Given the description of an element on the screen output the (x, y) to click on. 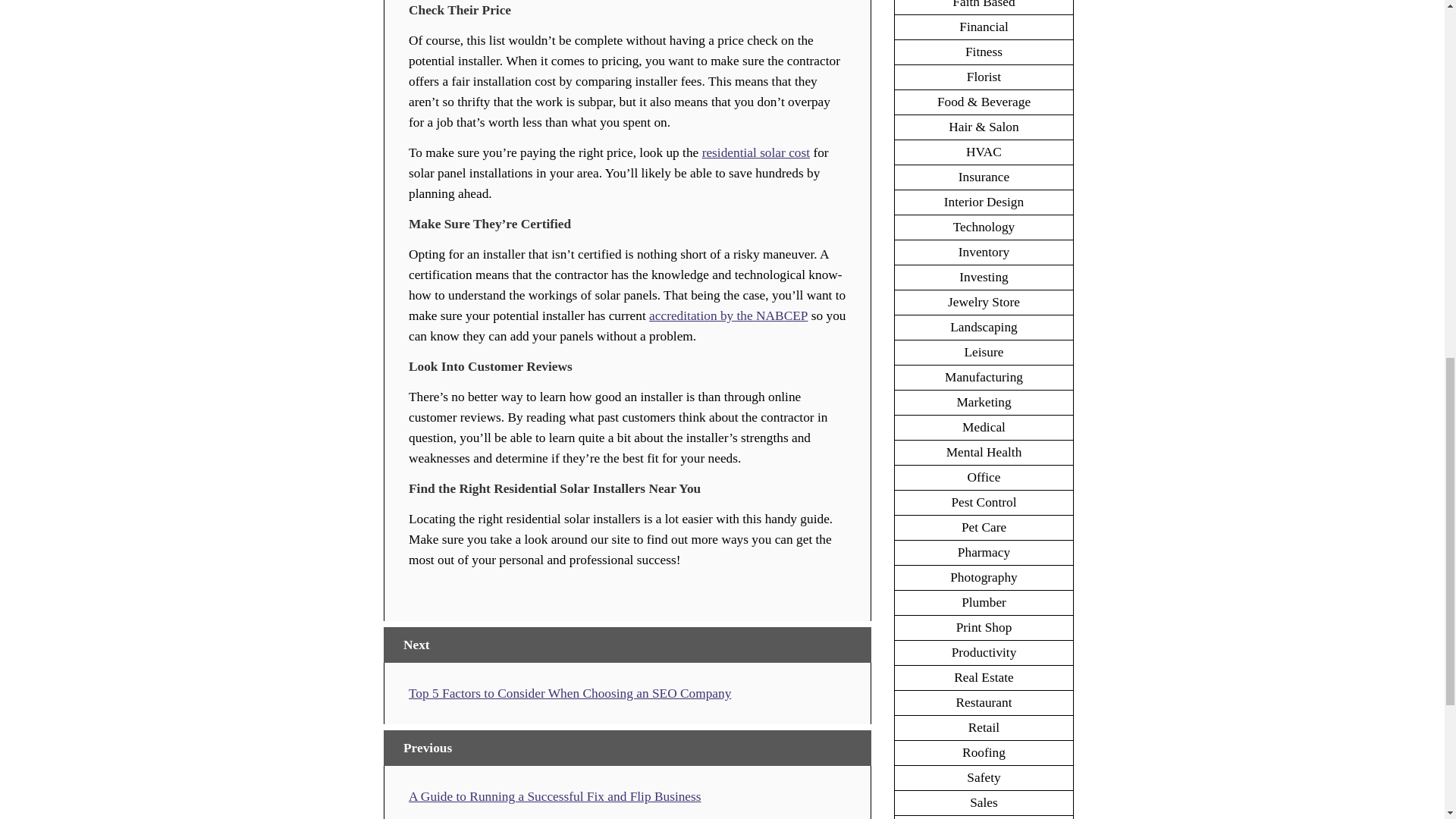
Investing (984, 277)
Technology (983, 227)
Interior Design (983, 201)
HVAC (983, 151)
Florist (983, 76)
residential solar cost (755, 152)
Inventory (983, 251)
Faith Based (983, 4)
A Guide to Running a Successful Fix and Flip Business (555, 796)
Insurance (983, 176)
